Given the description of an element on the screen output the (x, y) to click on. 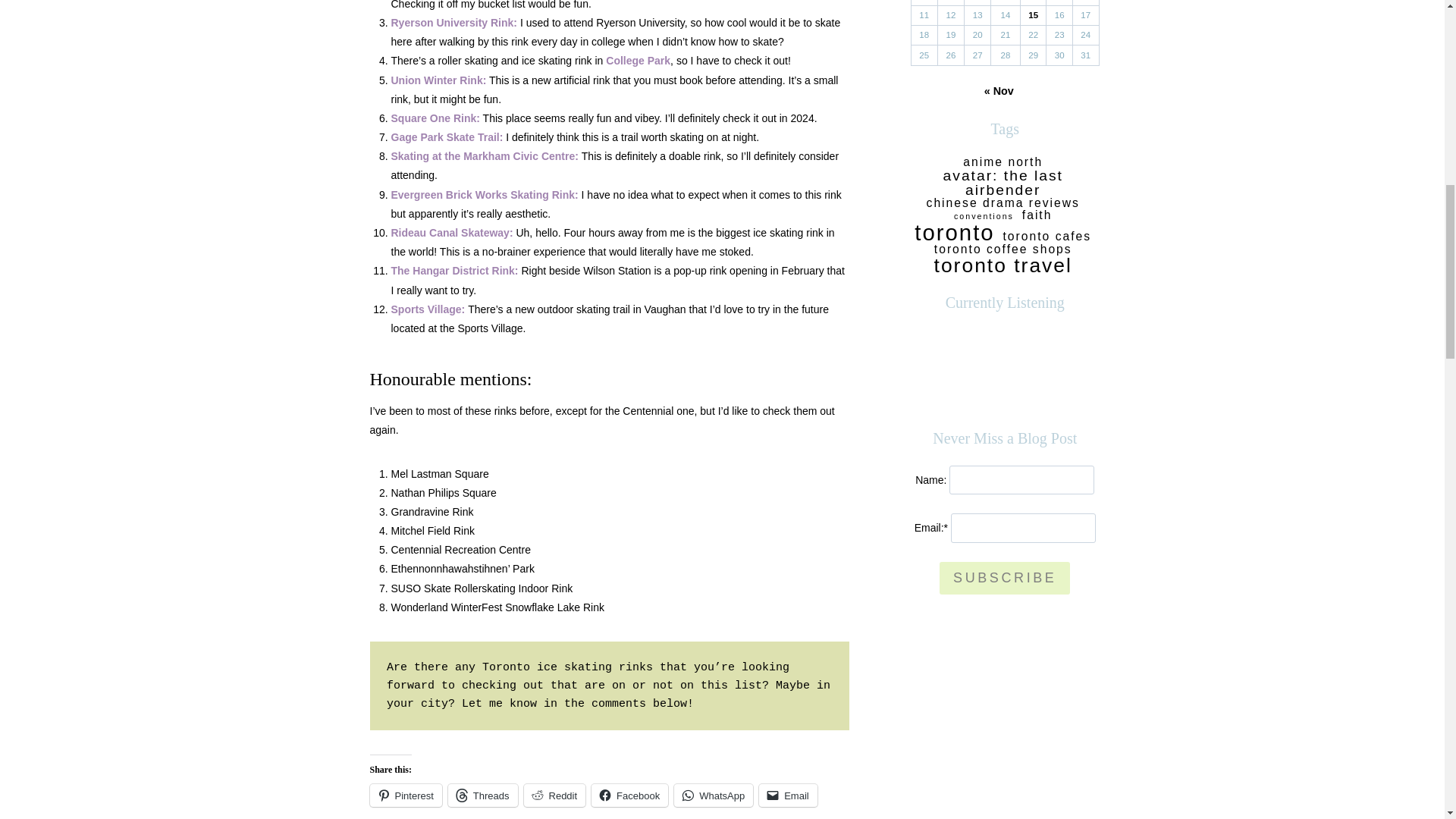
Threads (483, 794)
Click to share on Threads (483, 794)
Subscribe (1004, 577)
Click to share on Reddit (555, 794)
Click to share on Facebook (629, 794)
Click to email a link to a friend (787, 794)
Facebook (629, 794)
Pinterest (405, 794)
Click to share on Pinterest (405, 794)
Click to share on WhatsApp (713, 794)
